Given the description of an element on the screen output the (x, y) to click on. 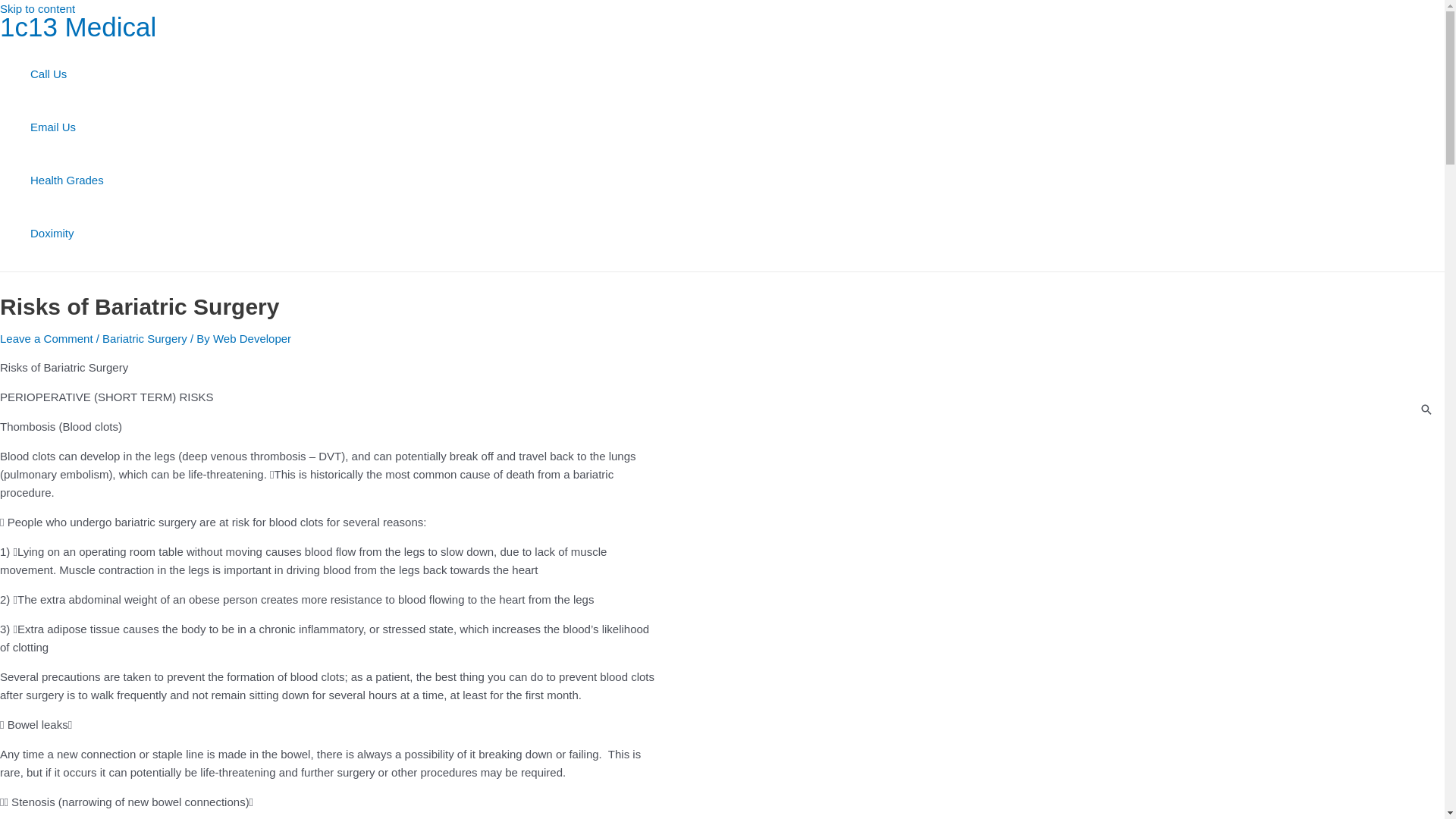
Skip to content Element type: text (37, 8)
Bariatric Surgery Element type: text (144, 338)
1c13 Medical Element type: text (78, 26)
Health Grades Element type: text (66, 180)
Email Us Element type: text (66, 126)
Call Us Element type: text (66, 73)
Doximity Element type: text (66, 233)
Web Developer Element type: text (252, 338)
Leave a Comment Element type: text (46, 338)
